Given the description of an element on the screen output the (x, y) to click on. 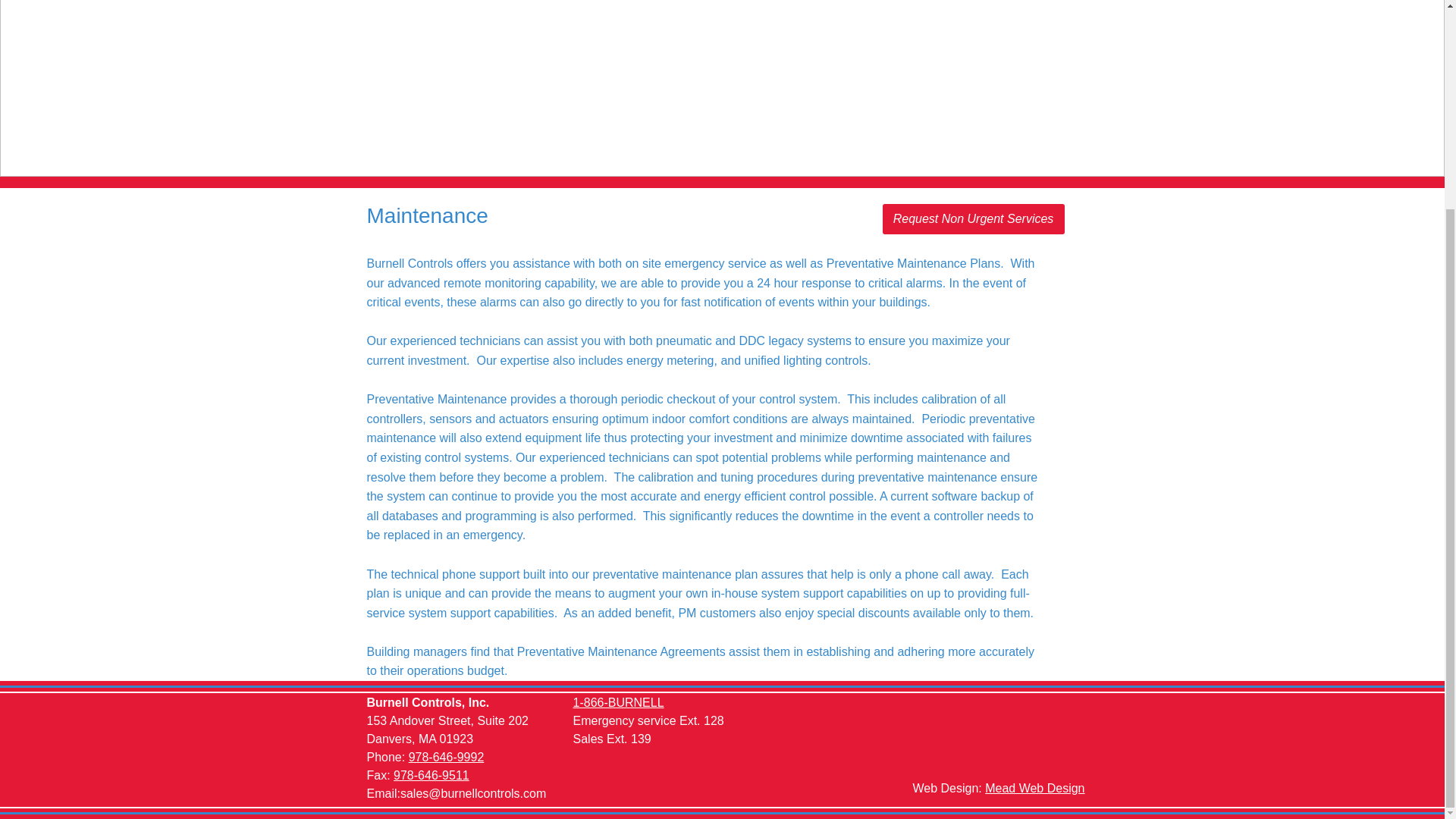
Request Non Urgent Services (973, 218)
978-646-9992 (446, 757)
Mead Web Design (1034, 788)
1-866-BURNELL (618, 702)
978-646-9511 (430, 775)
